Given the description of an element on the screen output the (x, y) to click on. 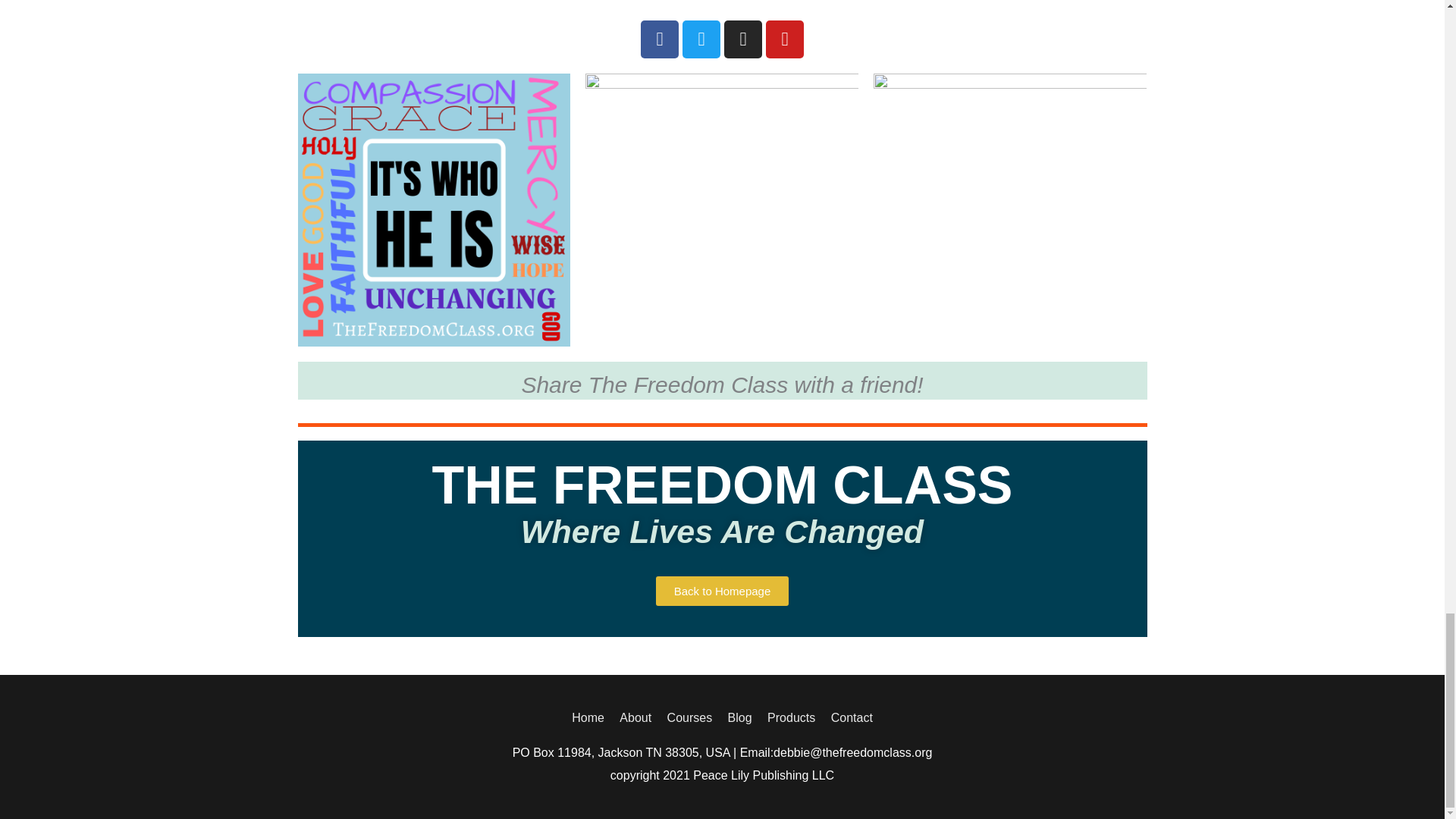
Contact (848, 717)
Back to Homepage (722, 591)
Courses (690, 717)
About (635, 717)
Products (791, 717)
Home (591, 717)
Blog (740, 717)
